Given the description of an element on the screen output the (x, y) to click on. 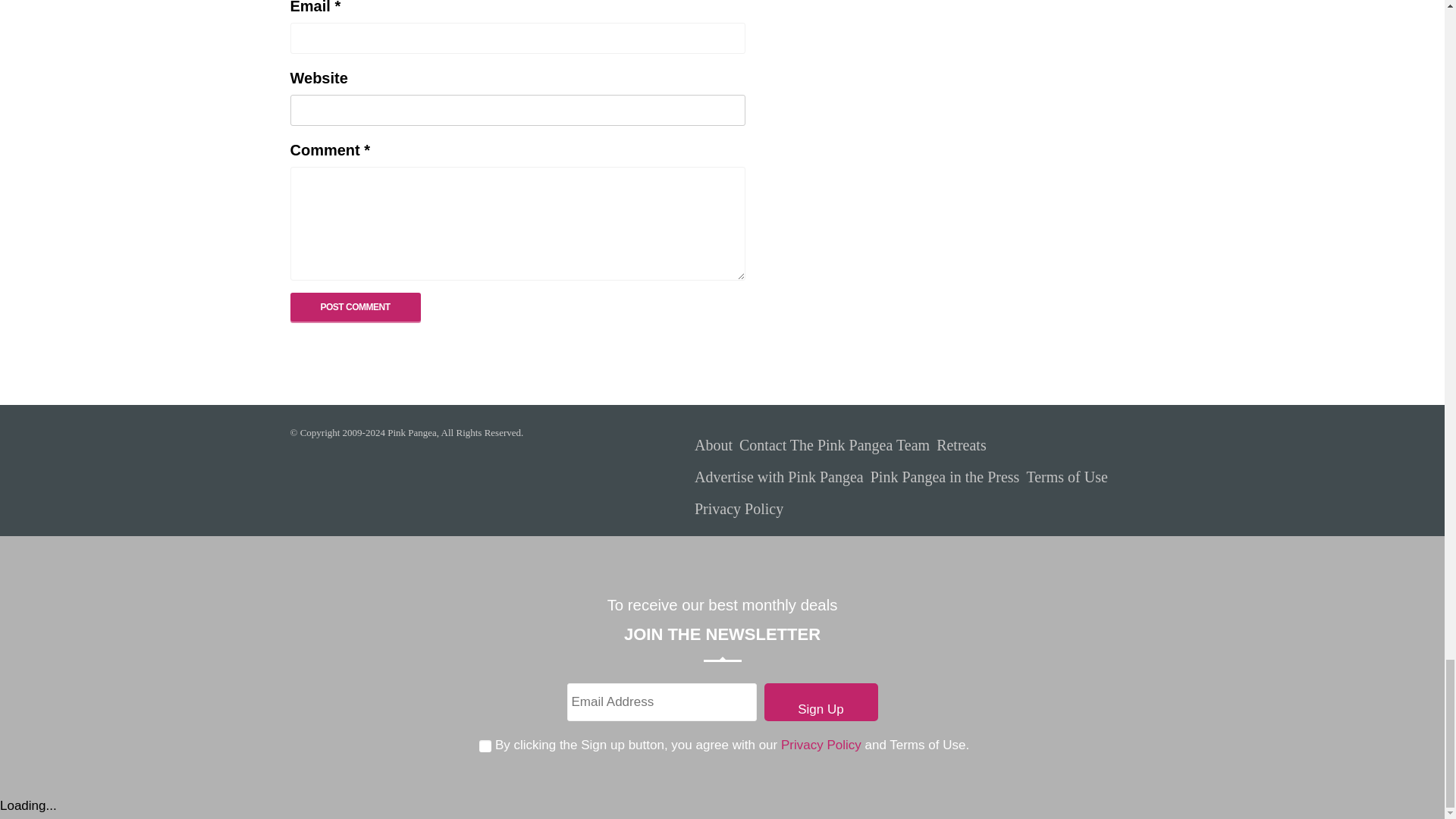
Post Comment (354, 306)
